Given the description of an element on the screen output the (x, y) to click on. 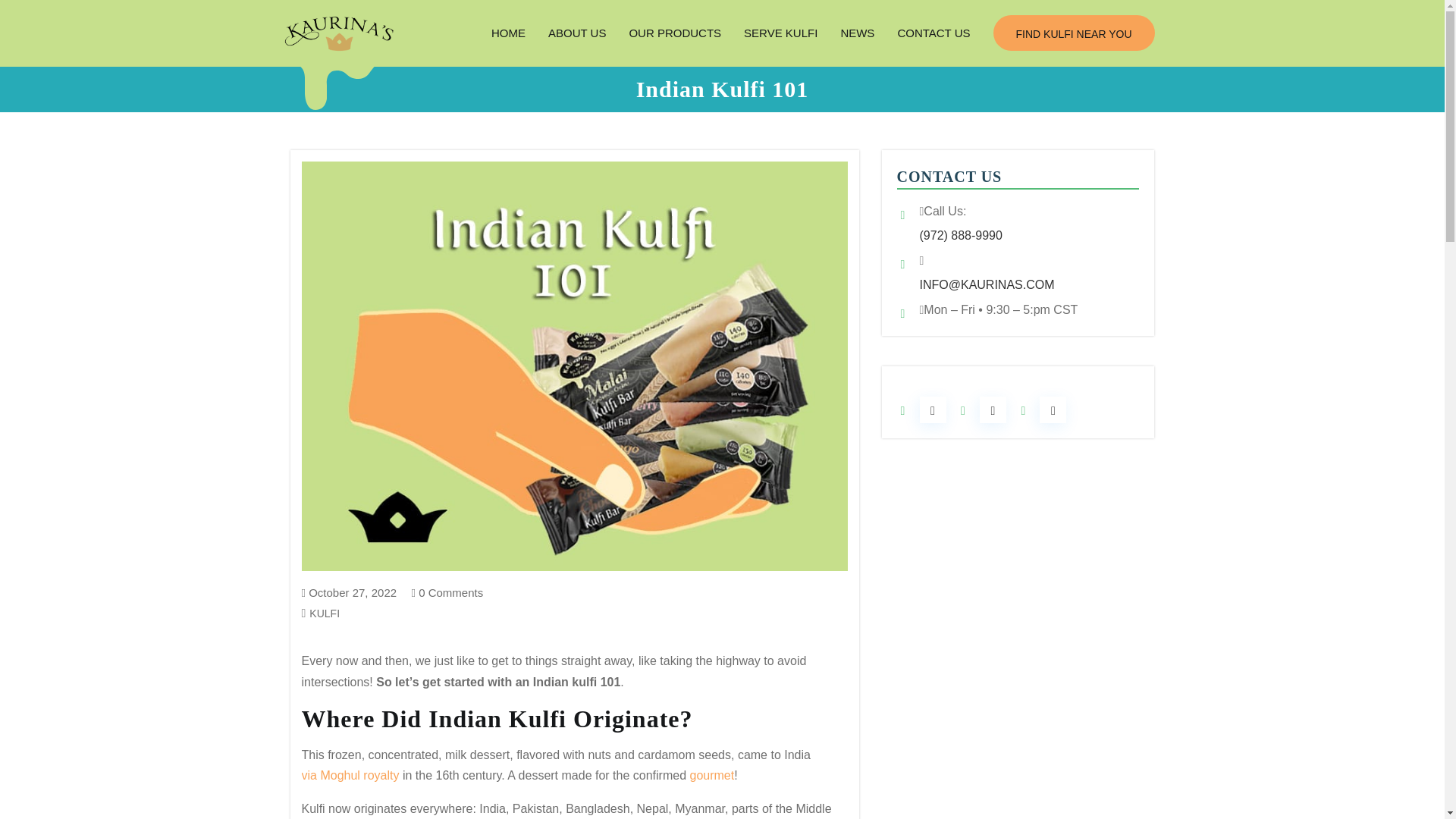
via Moghul royalty (349, 774)
HOME (508, 33)
NEWS (856, 33)
CONTACT US (933, 33)
FIND KULFI NEAR YOU (1073, 32)
FIND KULFI NEAR YOU (1073, 32)
SERVE KULFI (780, 33)
ABOUT US (577, 33)
Home (508, 33)
KULFI (324, 614)
CONTACT US (933, 33)
ABOUT US (577, 33)
NEWS (856, 33)
SERVE KULFI (780, 33)
gourmet (710, 774)
